Given the description of an element on the screen output the (x, y) to click on. 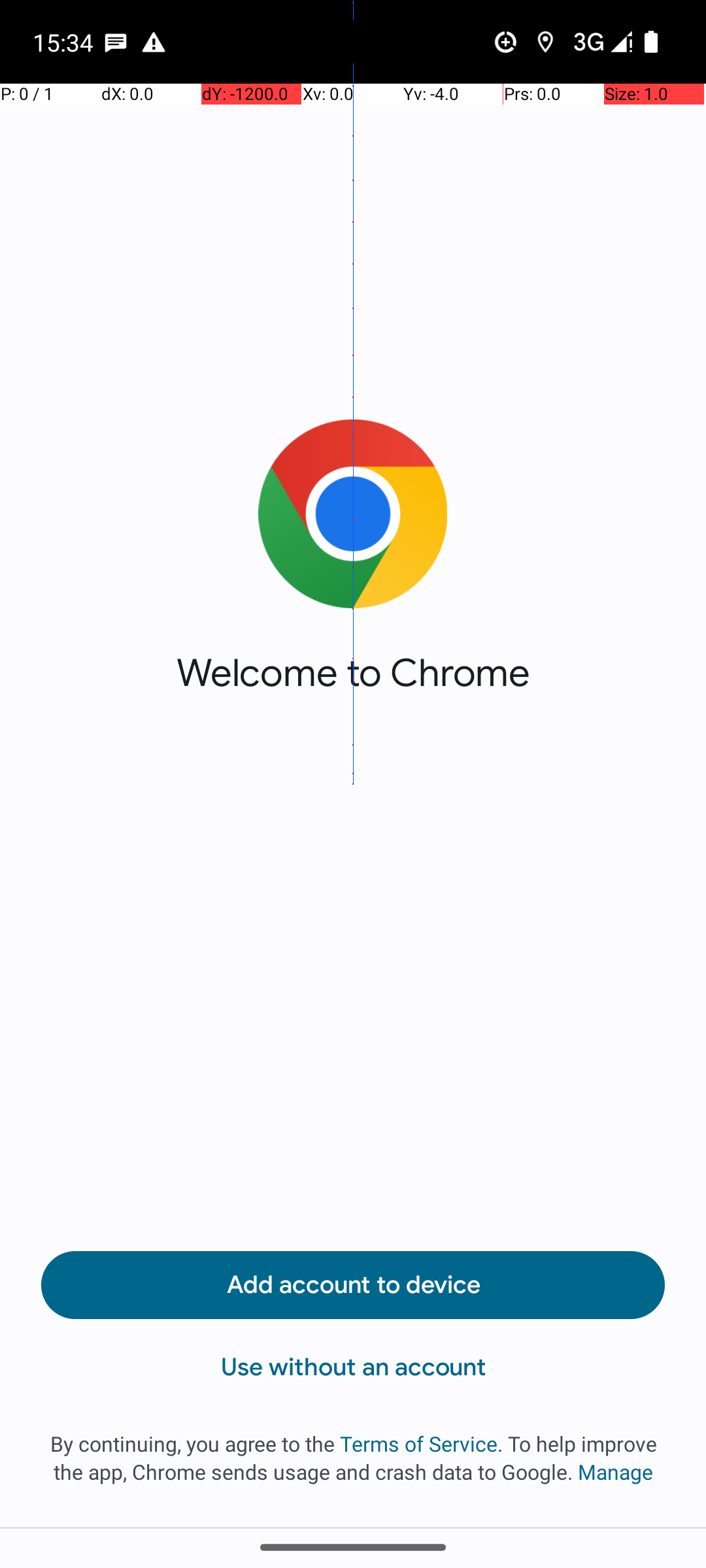
Data Saver is on Element type: android.widget.ImageView (505, 41)
